Given the description of an element on the screen output the (x, y) to click on. 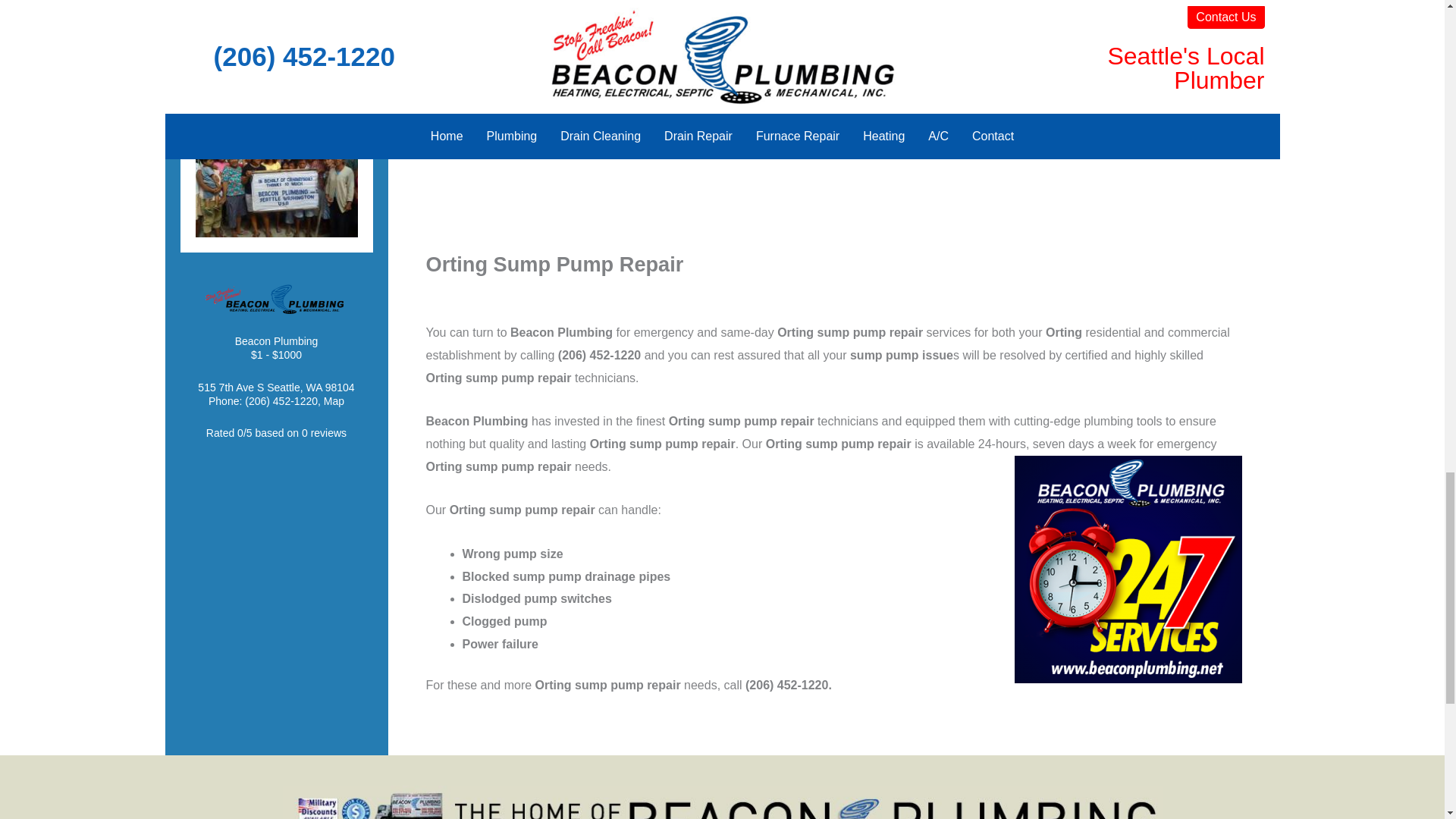
footerbanner (721, 802)
Plumber-in-Seattle-Area.png (276, 6)
local-plumbing-seattle-wa.jpg (276, 176)
